Given the description of an element on the screen output the (x, y) to click on. 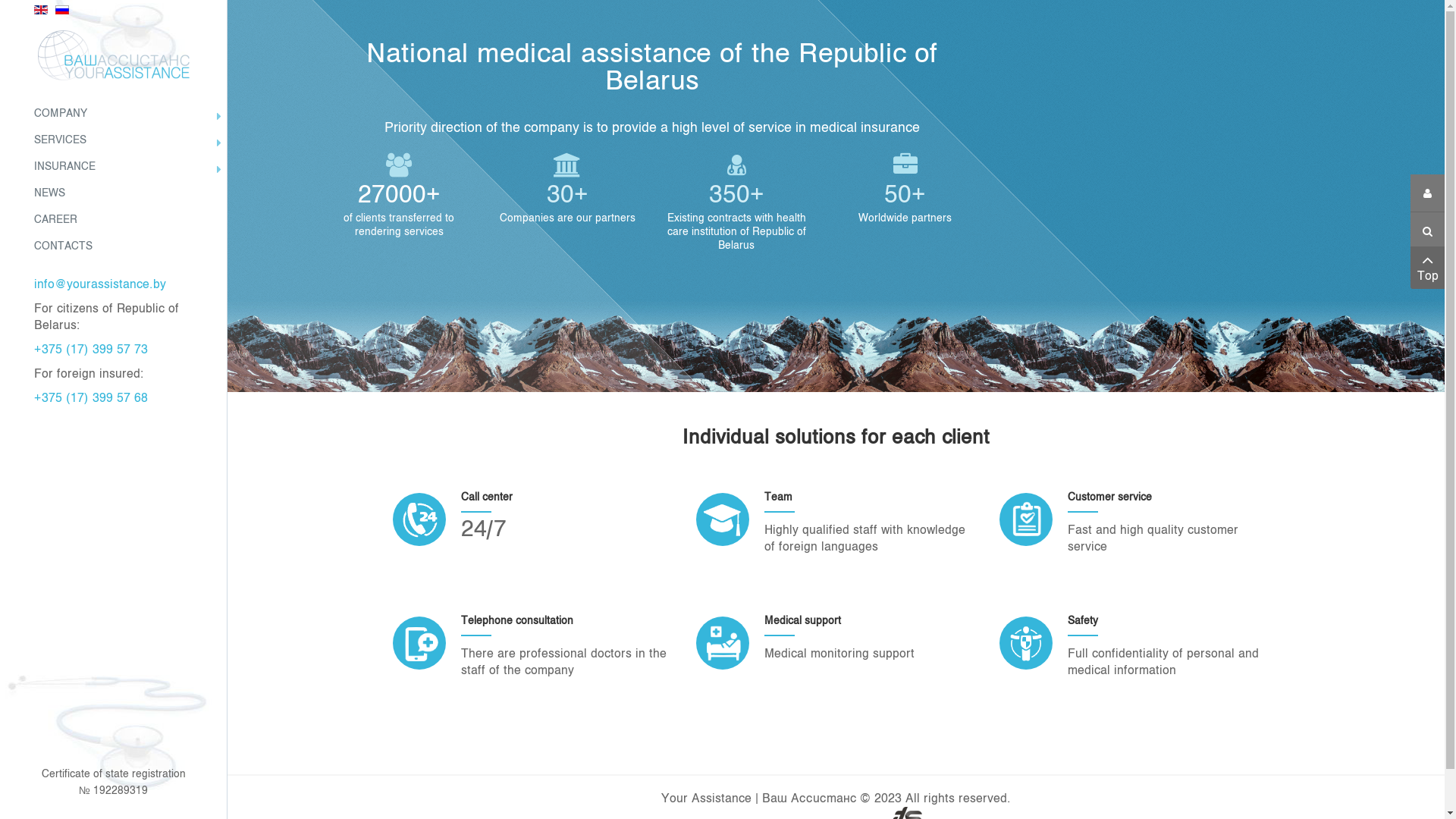
CONTACTS Element type: text (113, 246)
info@yourassistance.by Element type: text (100, 285)
English  Element type: hover (40, 8)
SERVICES Element type: text (113, 140)
COMPANY Element type: text (113, 113)
+375 (17) 399 57 68 Element type: text (90, 398)
Top Element type: text (1427, 267)
CAREER Element type: text (113, 220)
Login Element type: hover (1427, 193)
+375 (17) 399 57 73 Element type: text (90, 350)
NEWS Element type: text (113, 193)
Search Element type: hover (1427, 231)
Russian Element type: hover (62, 8)
INSURANCE Element type: text (113, 166)
